Given the description of an element on the screen output the (x, y) to click on. 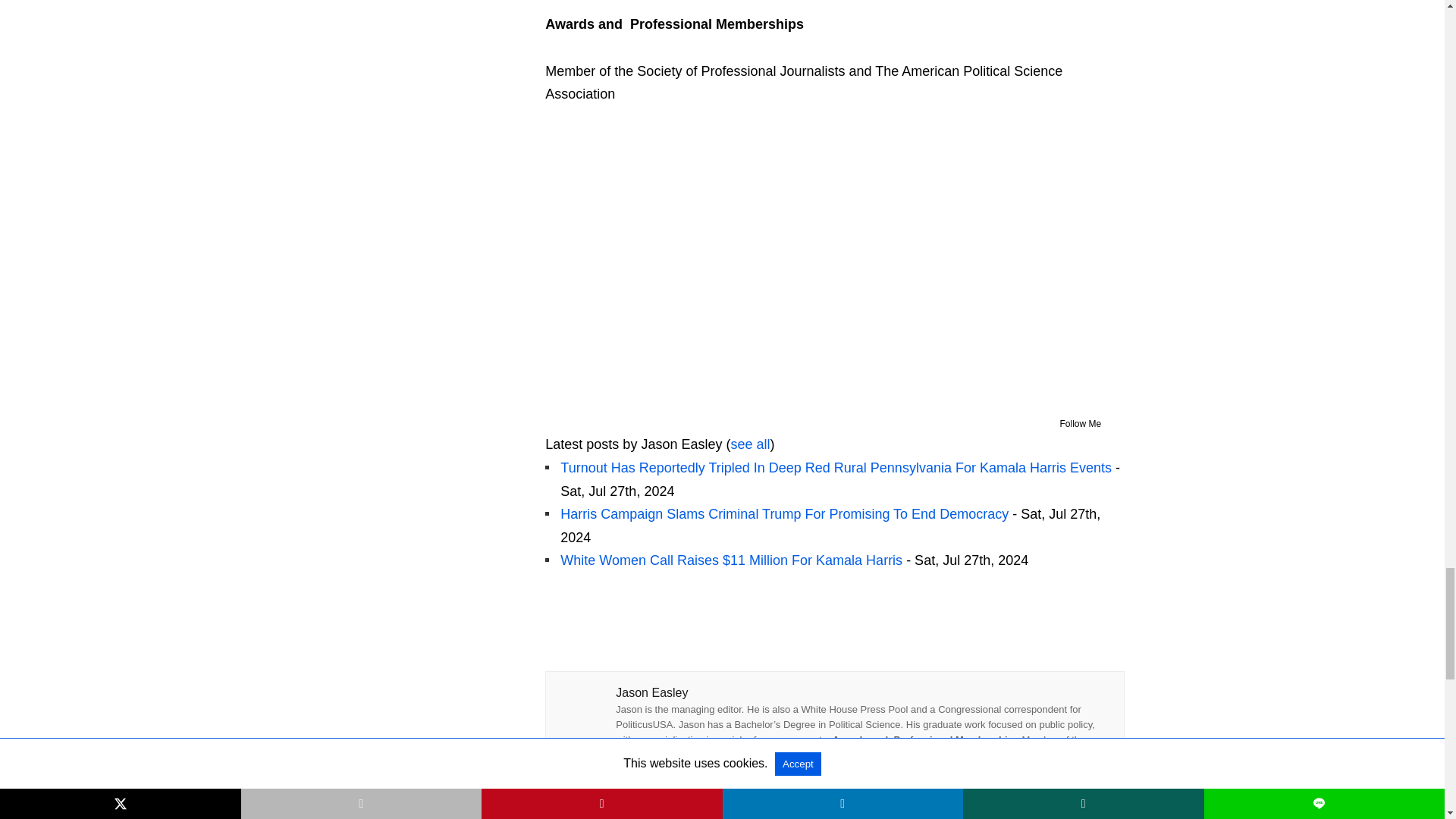
see all (750, 444)
Jason Easley (639, 404)
